Given the description of an element on the screen output the (x, y) to click on. 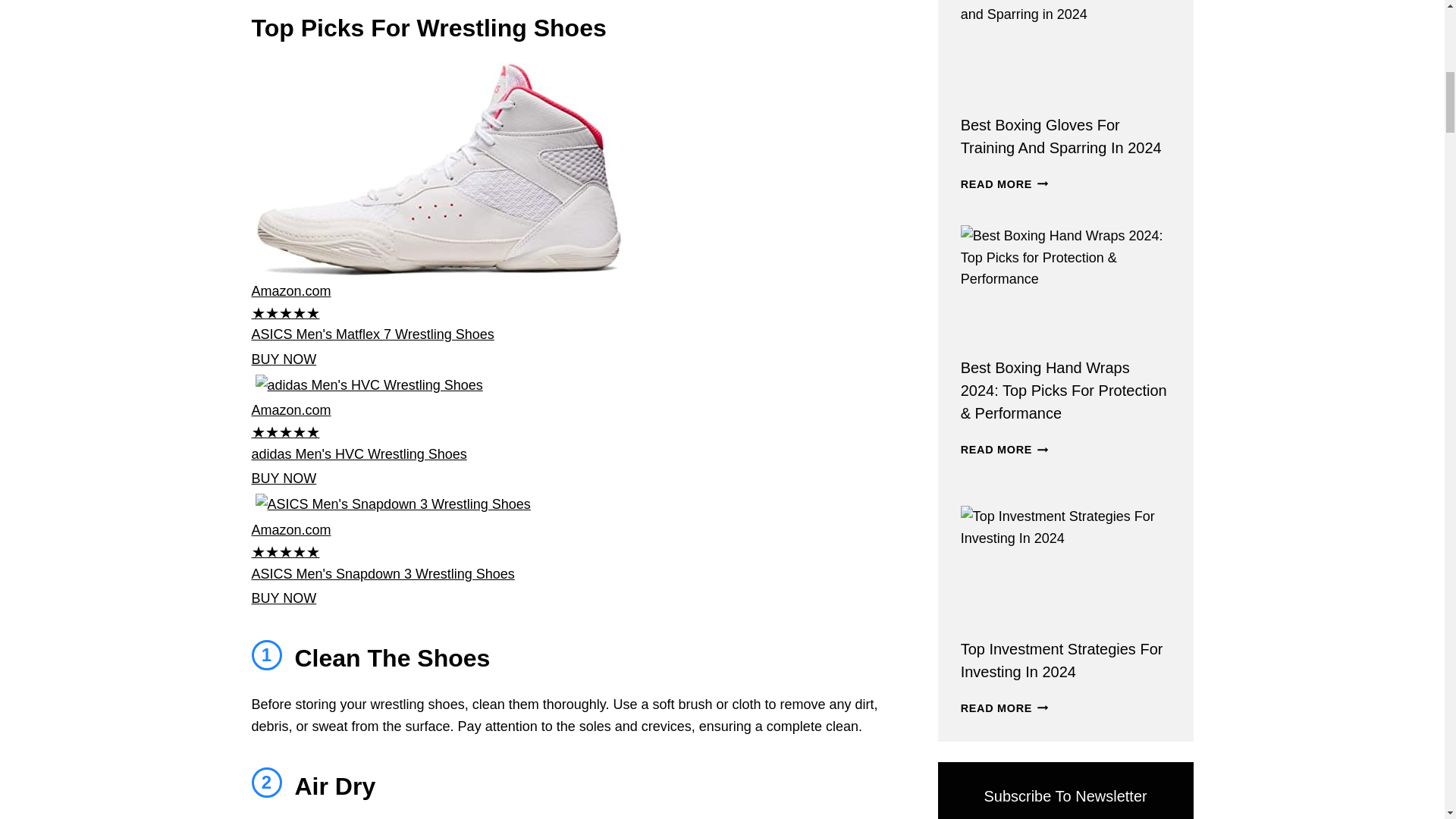
BUY NOW (284, 478)
BUY NOW (284, 359)
BUY NOW (284, 598)
